Given the description of an element on the screen output the (x, y) to click on. 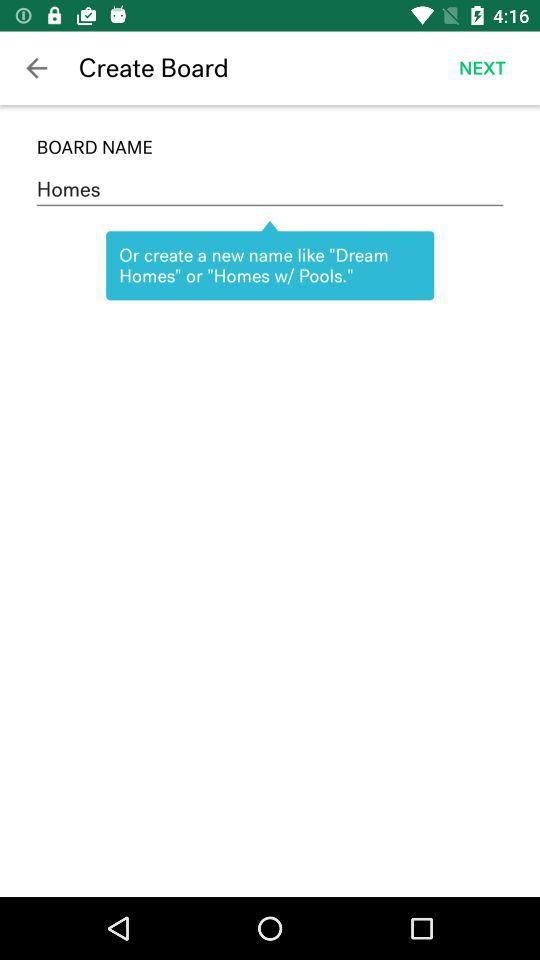
launch the item above homes (269, 147)
